Given the description of an element on the screen output the (x, y) to click on. 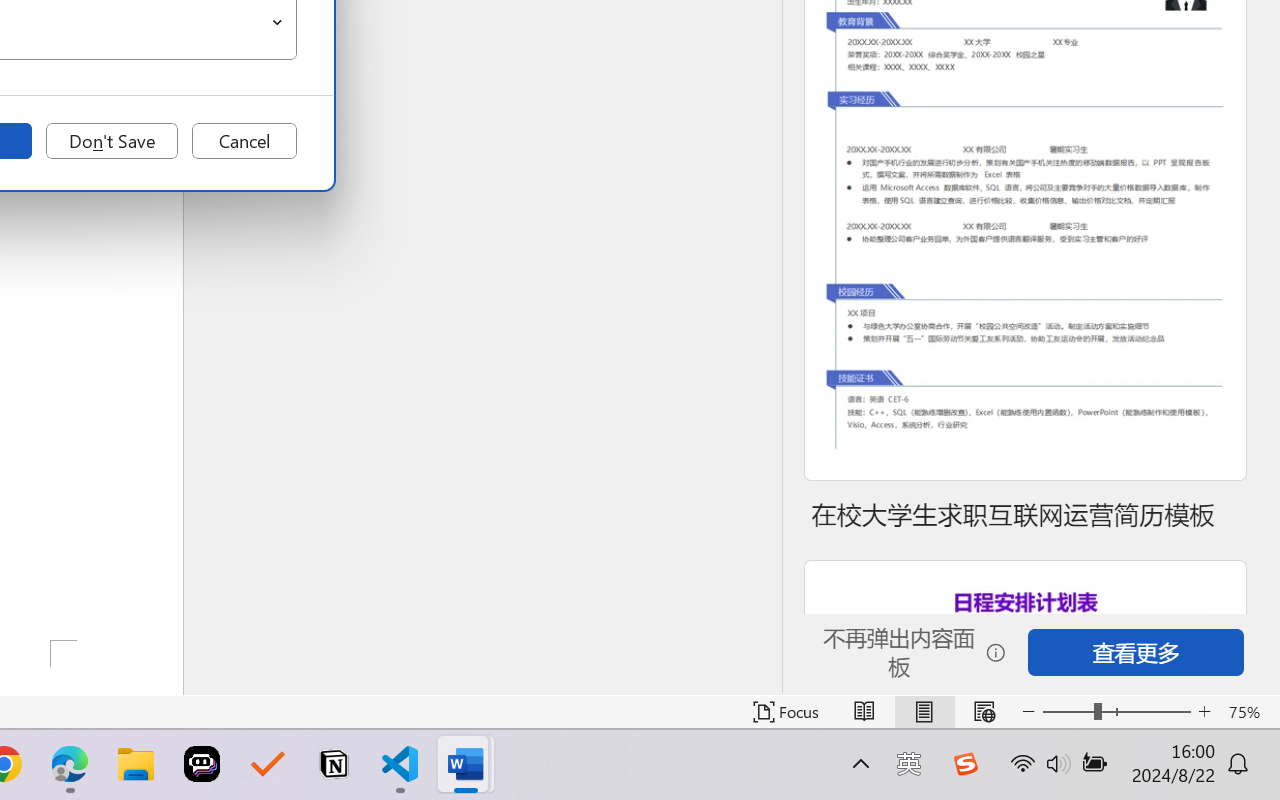
Notion (333, 764)
Print Layout (924, 712)
Poe (201, 764)
Zoom (1116, 712)
Don't Save (111, 141)
Focus  (786, 712)
